Given the description of an element on the screen output the (x, y) to click on. 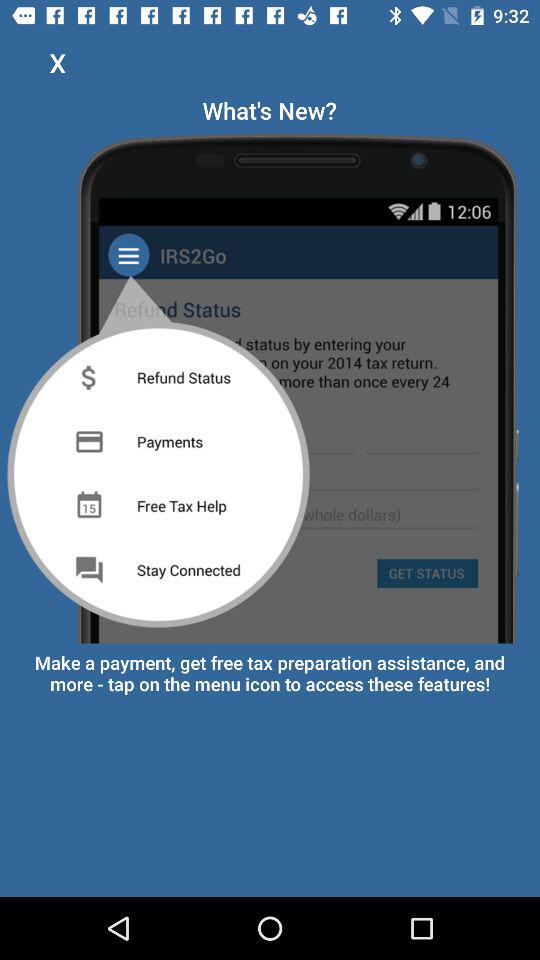
click icon to the left of the what's new? item (57, 62)
